Given the description of an element on the screen output the (x, y) to click on. 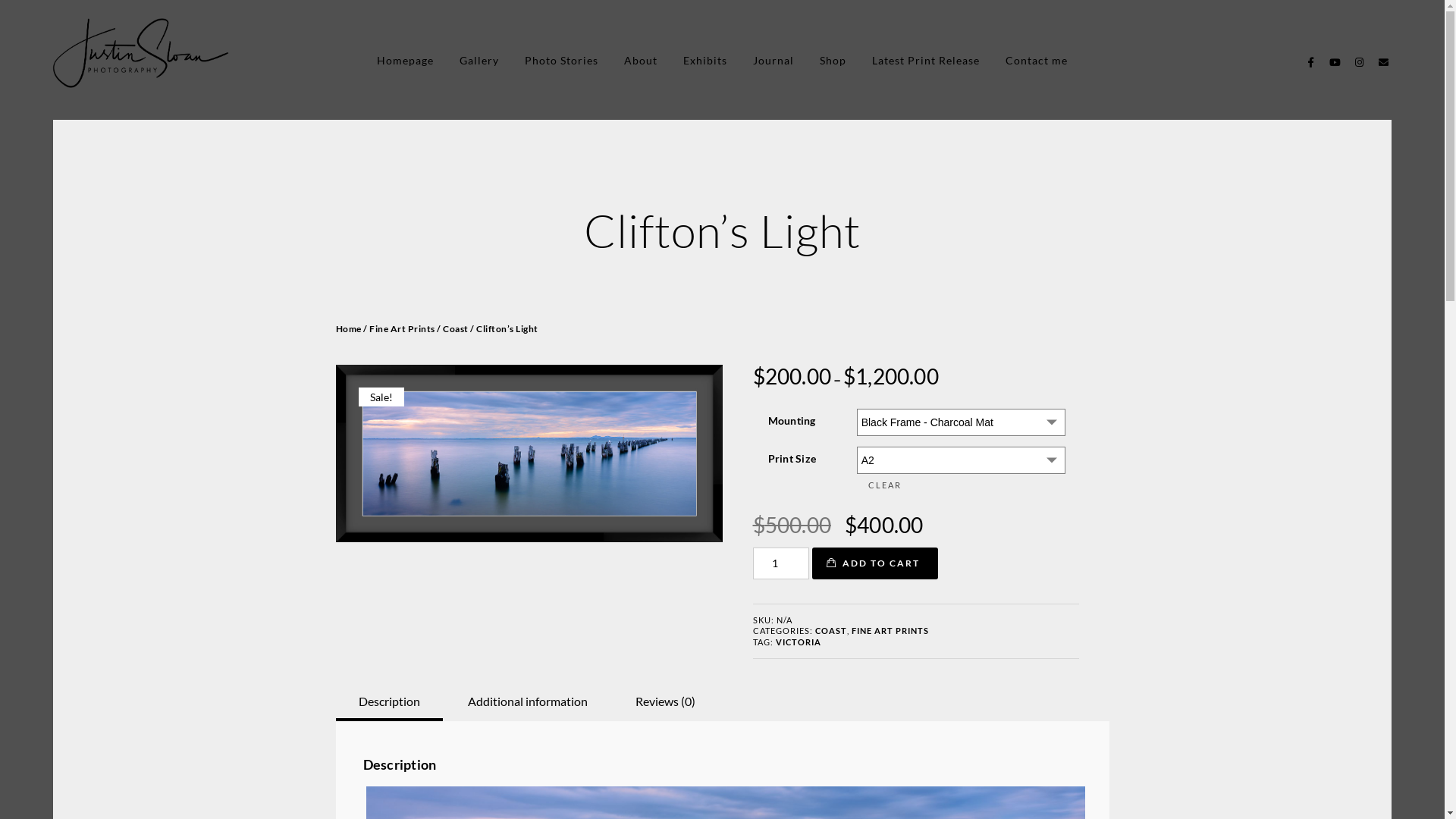
Gallery Element type: text (478, 59)
Latest Print Release Element type: text (925, 59)
Journal Element type: text (773, 59)
COAST Element type: text (830, 630)
Coast Element type: text (455, 328)
Home Element type: text (347, 328)
Contact me Element type: text (1036, 59)
Exhibits Element type: text (705, 59)
Photo Stories Element type: text (561, 59)
VICTORIA Element type: text (797, 641)
JS0072CLLE_black-charcoal-65x24 Element type: hover (528, 452)
Description Element type: text (388, 701)
Additional information Element type: text (526, 701)
CLEAR Element type: text (959, 484)
About Element type: text (640, 59)
Shop Element type: text (832, 59)
Fine Art Prints Element type: text (402, 328)
Reviews (0) Element type: text (665, 701)
FINE ART PRINTS Element type: text (889, 630)
ADD TO CART Element type: text (874, 563)
Homepage Element type: text (404, 59)
